Given the description of an element on the screen output the (x, y) to click on. 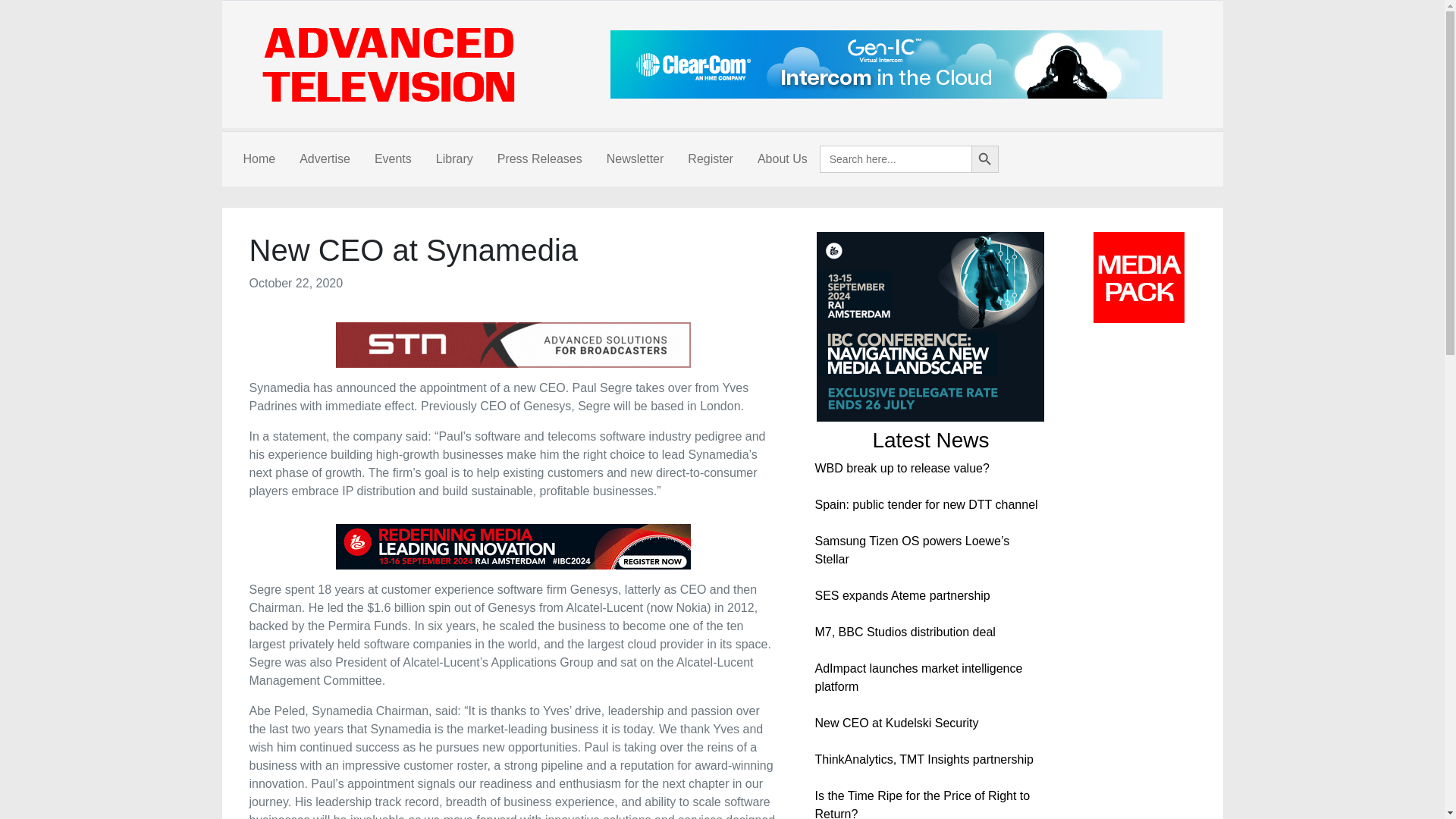
Library (453, 158)
M7, BBC Studios distribution deal (903, 631)
Newsletter (635, 158)
Spain: public tender for new DTT channel (924, 504)
Home (258, 158)
WBD break up to release value? (900, 468)
AdImpact launches market intelligence platform (917, 676)
Register (710, 158)
New CEO at Kudelski Security (895, 722)
Events (392, 158)
About Us (782, 158)
Advertise (324, 158)
Press Releases (539, 158)
SES expands Ateme partnership (901, 594)
Search Button (984, 158)
